Given the description of an element on the screen output the (x, y) to click on. 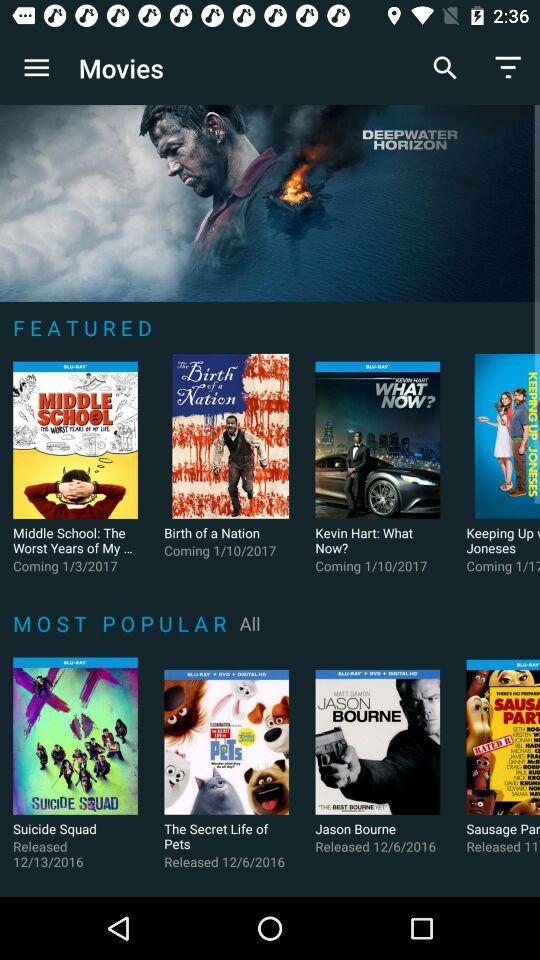
tap icon to the left of the movies icon (36, 68)
